Given the description of an element on the screen output the (x, y) to click on. 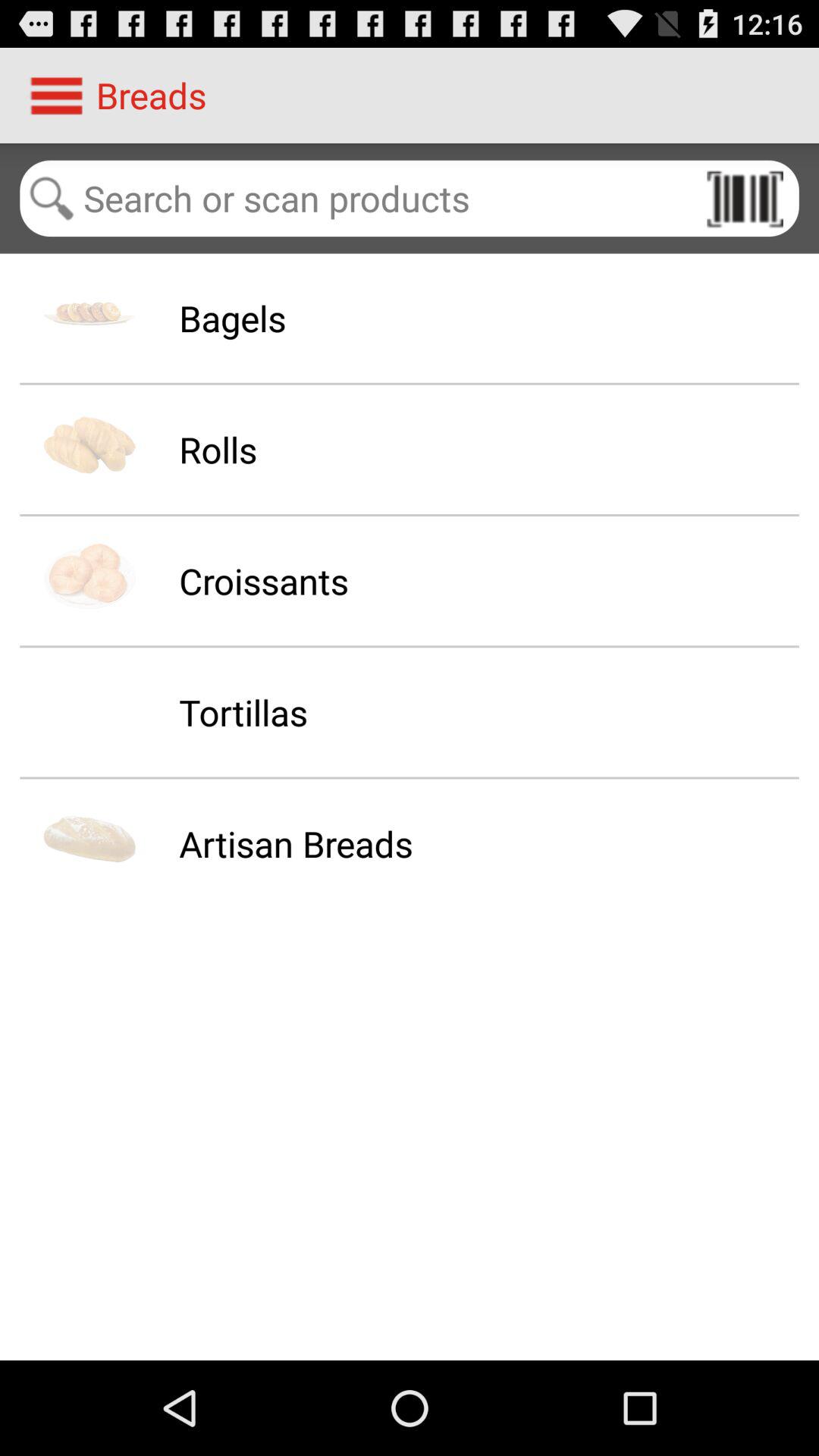
flip until bagels item (232, 317)
